Given the description of an element on the screen output the (x, y) to click on. 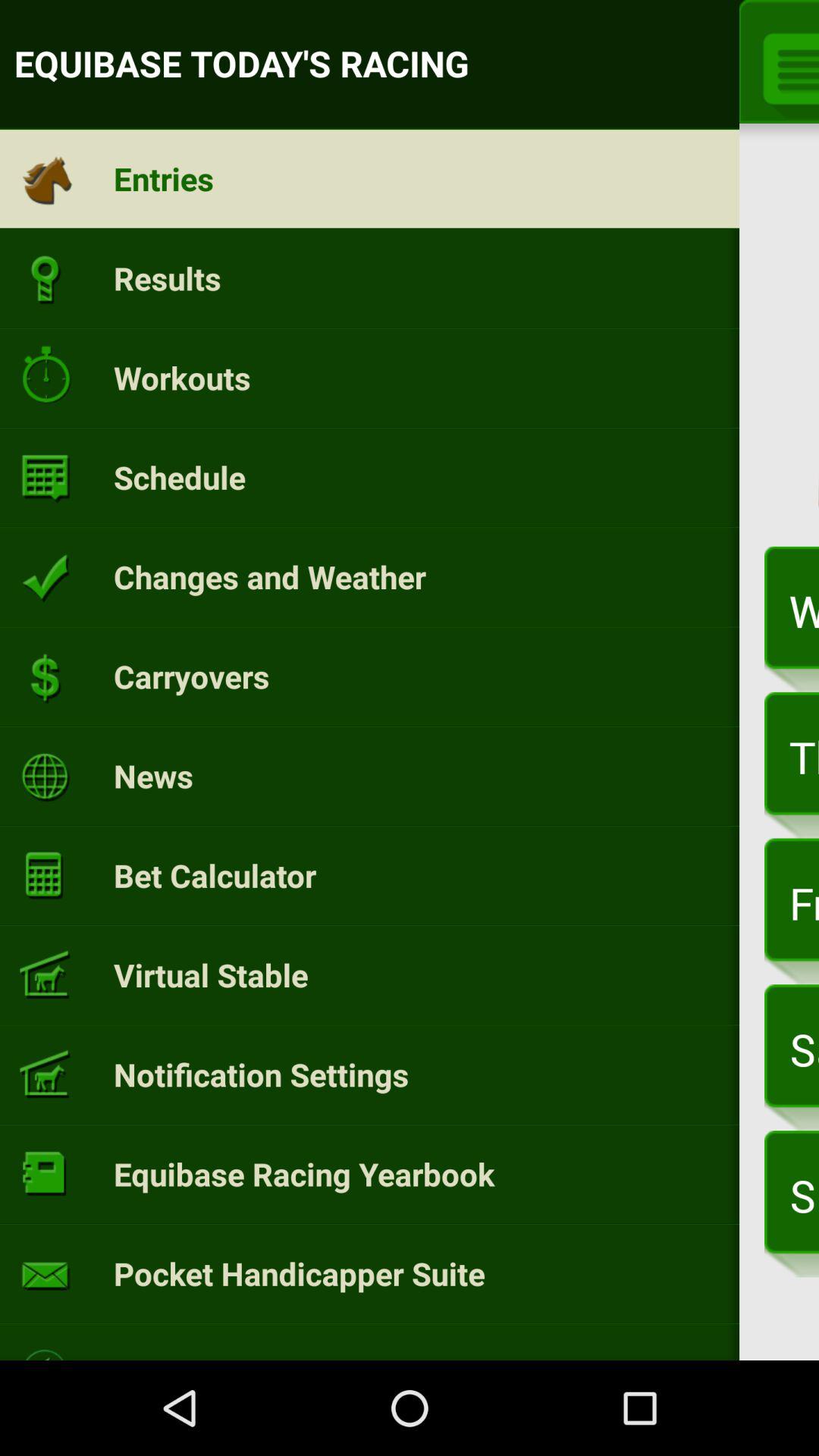
press schedule (179, 476)
